Given the description of an element on the screen output the (x, y) to click on. 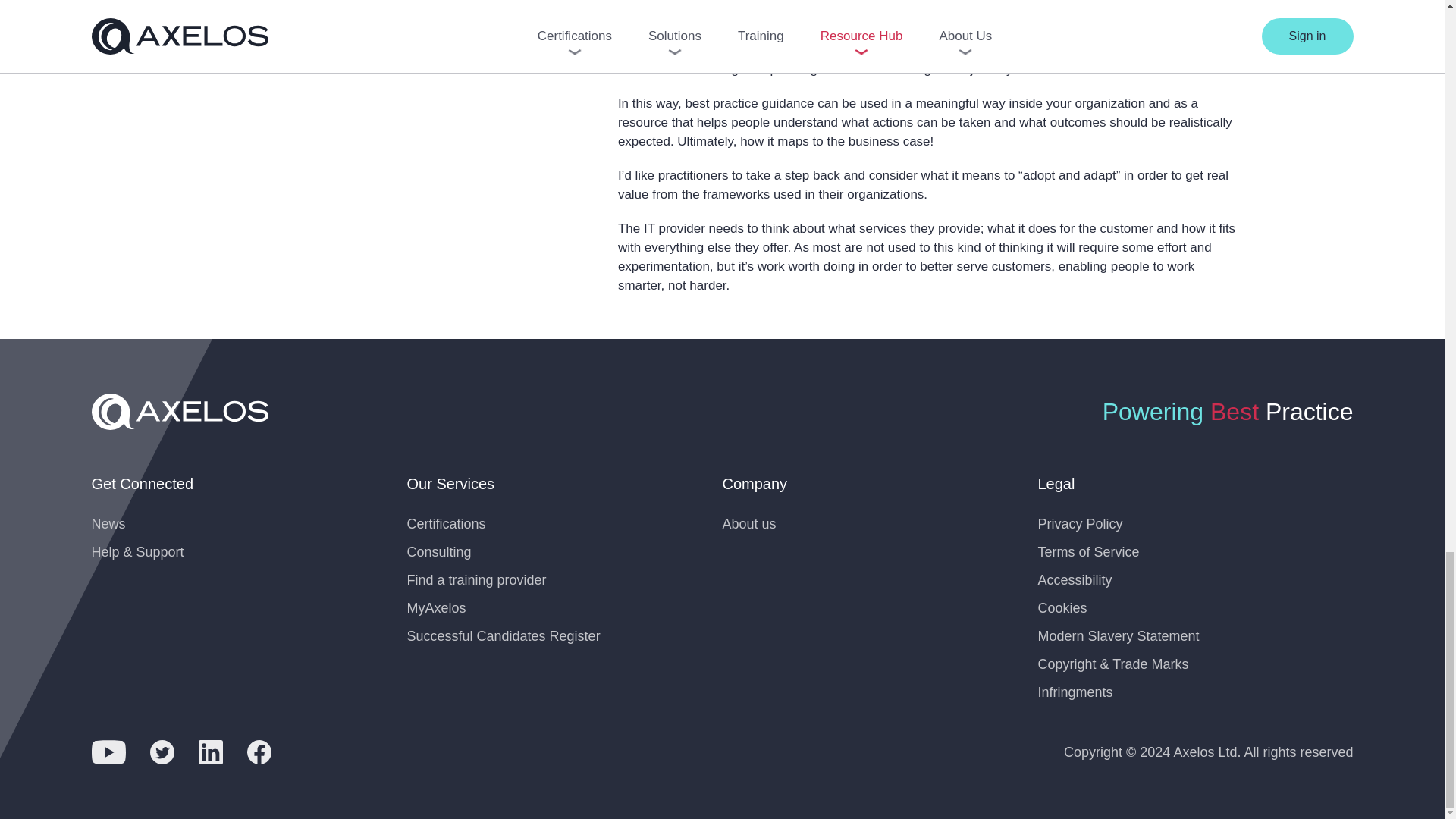
Cookies (1061, 607)
Modern Slavery Statement (1117, 635)
Accessibility (1074, 580)
Terms of Service (1087, 551)
Find a training provider (476, 580)
About us (749, 523)
Privacy Policy (1079, 523)
News (107, 523)
Consulting (438, 551)
Certifications (445, 523)
MyAxelos (435, 607)
Successful Candidates Register (502, 635)
Infringments (1074, 692)
